Given the description of an element on the screen output the (x, y) to click on. 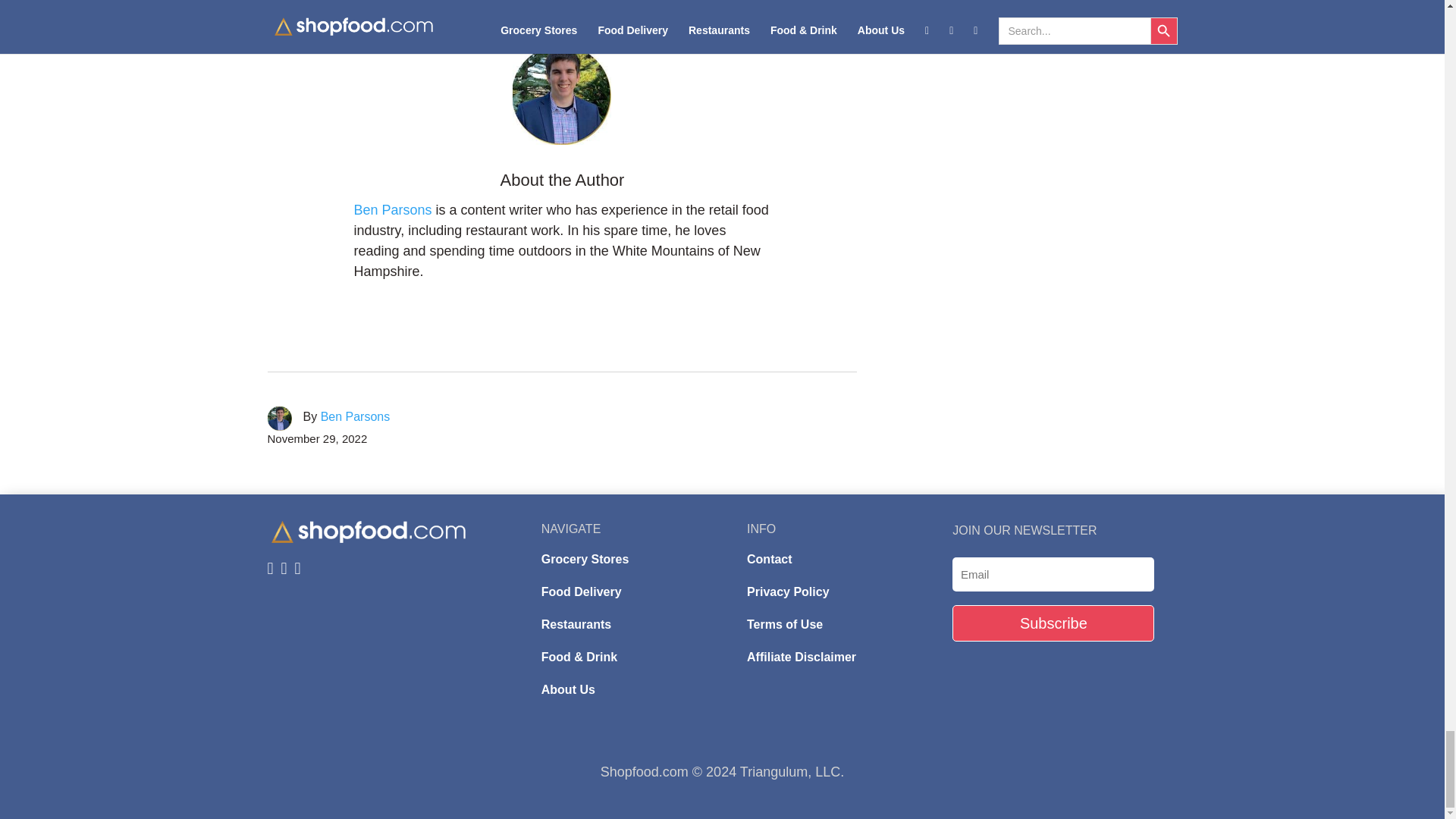
shopfood-Logo-Final-PNG (367, 531)
Ben Parsons (355, 416)
Ben Parsons (394, 209)
